Given the description of an element on the screen output the (x, y) to click on. 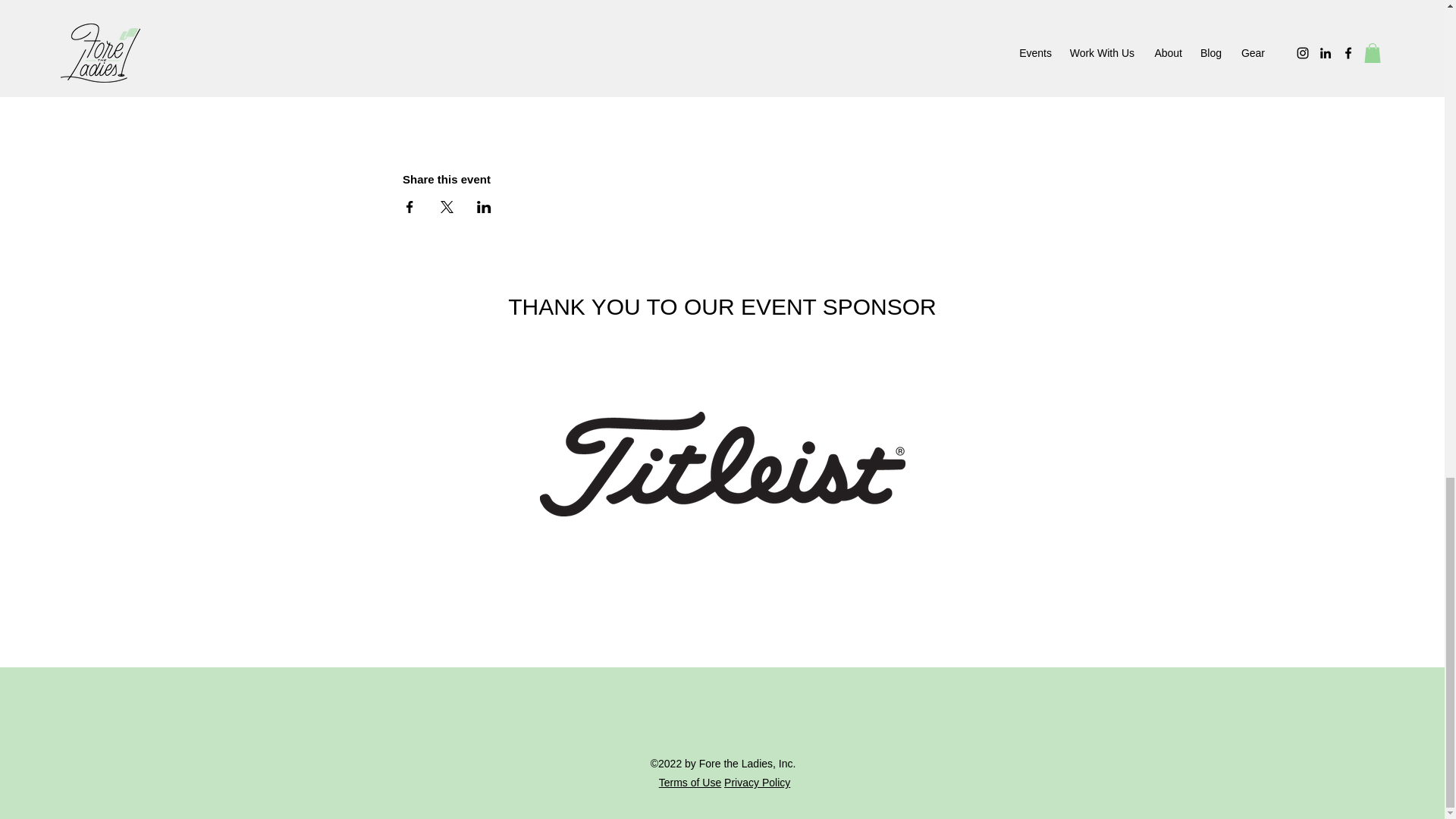
Privacy Policy (756, 782)
Terms of Use (689, 782)
